Given the description of an element on the screen output the (x, y) to click on. 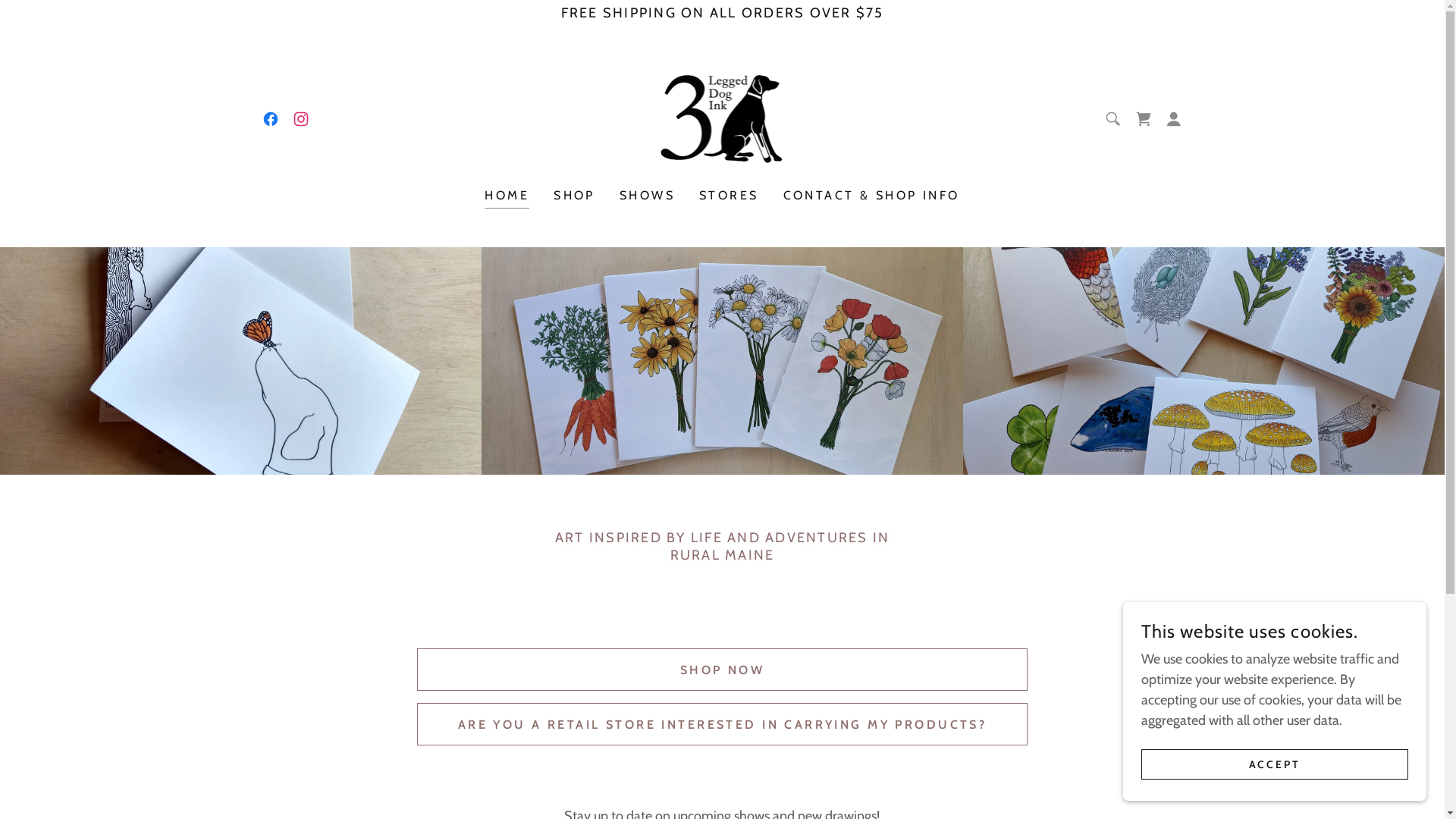
ARE YOU A RETAIL STORE INTERESTED IN CARRYING MY PRODUCTS? Element type: text (722, 723)
ACCEPT Element type: text (1274, 764)
STORES Element type: text (728, 195)
CONTACT & SHOP INFO Element type: text (870, 195)
HOME Element type: text (506, 197)
SHOP Element type: text (574, 195)
3 Legged Dog Ink Element type: hover (722, 117)
SHOP NOW Element type: text (722, 669)
SHOWS Element type: text (647, 195)
